Given the description of an element on the screen output the (x, y) to click on. 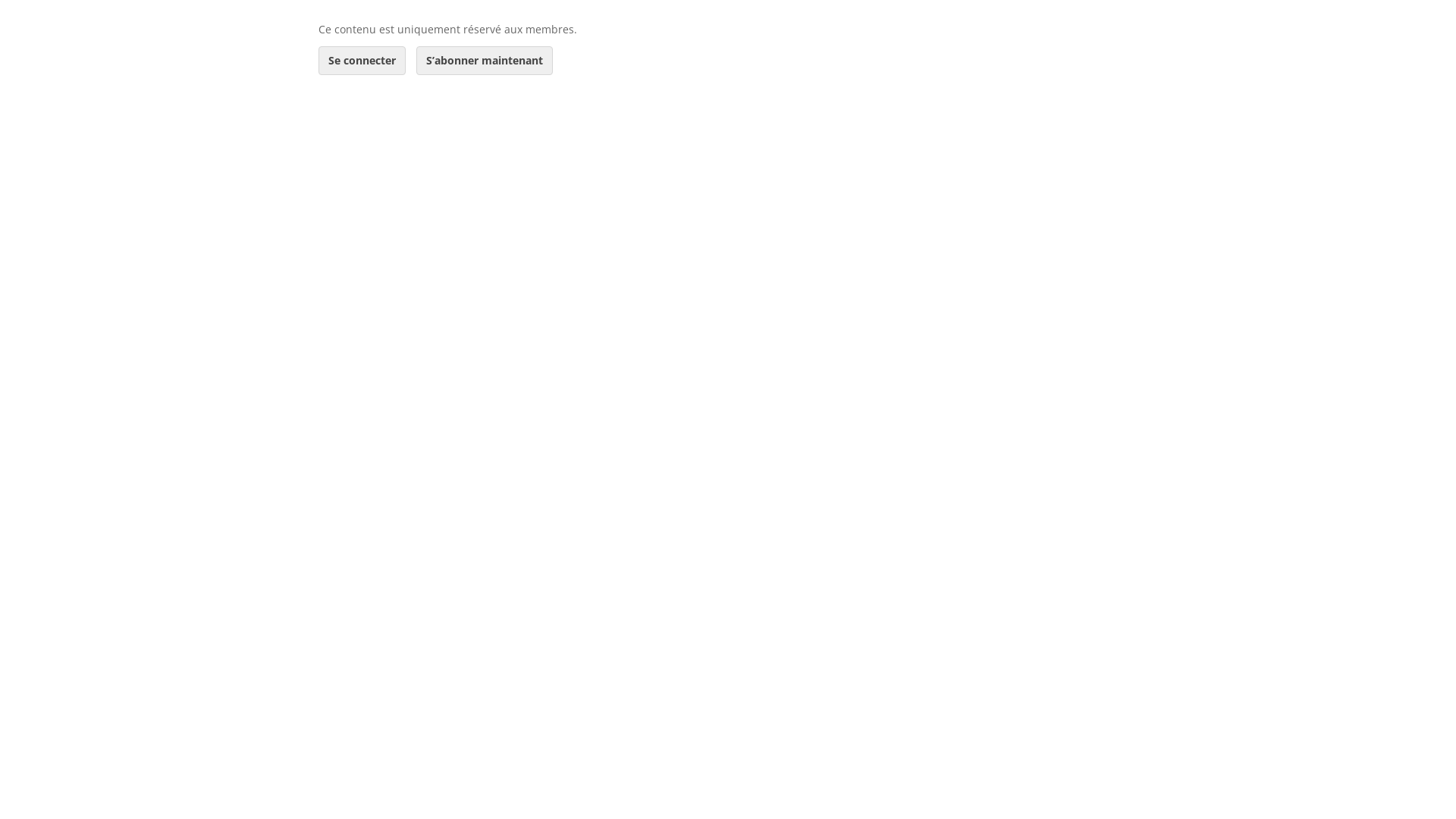
Se connecter Element type: text (361, 60)
